Given the description of an element on the screen output the (x, y) to click on. 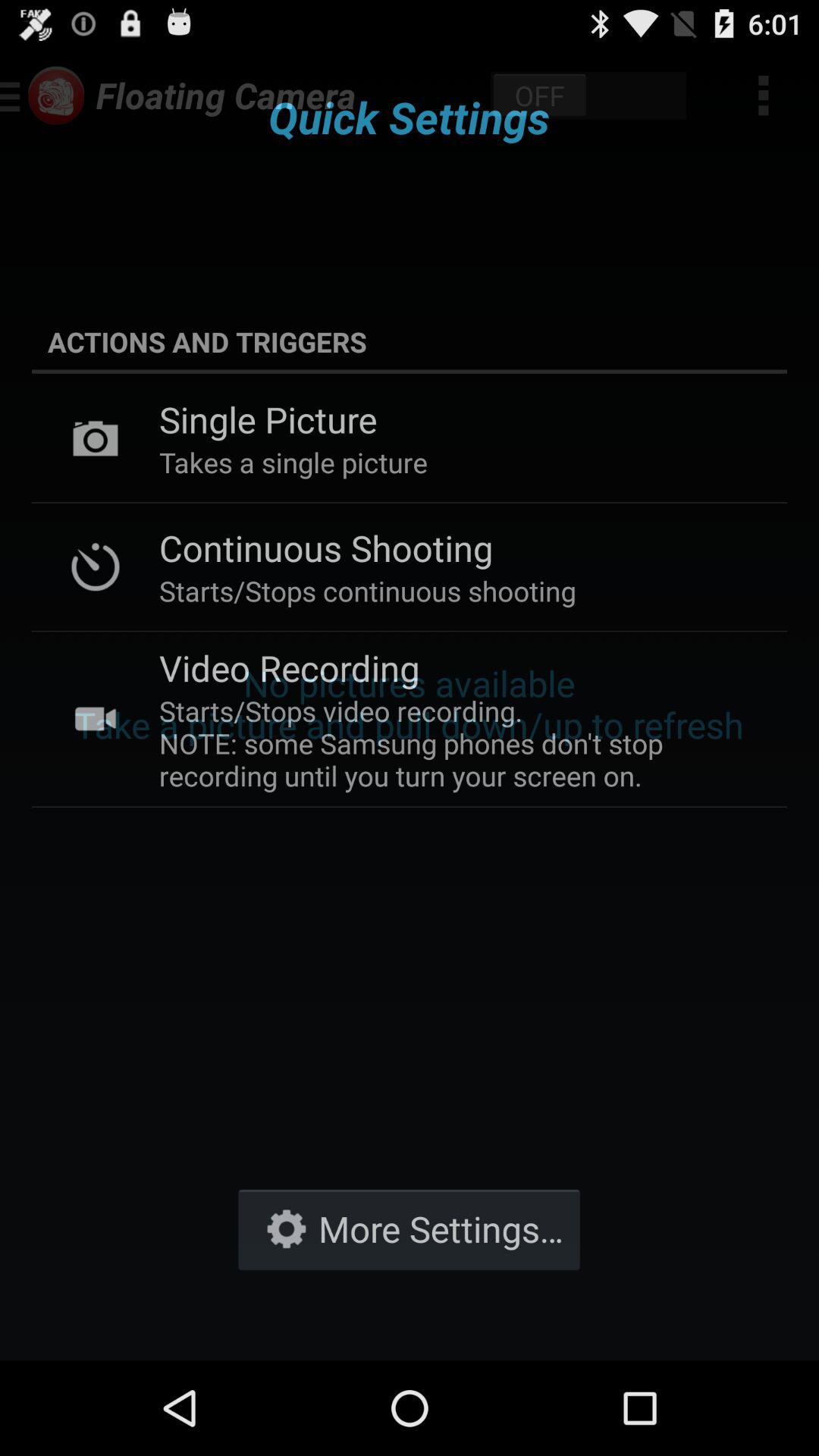
flip to the actions and triggers icon (409, 341)
